Given the description of an element on the screen output the (x, y) to click on. 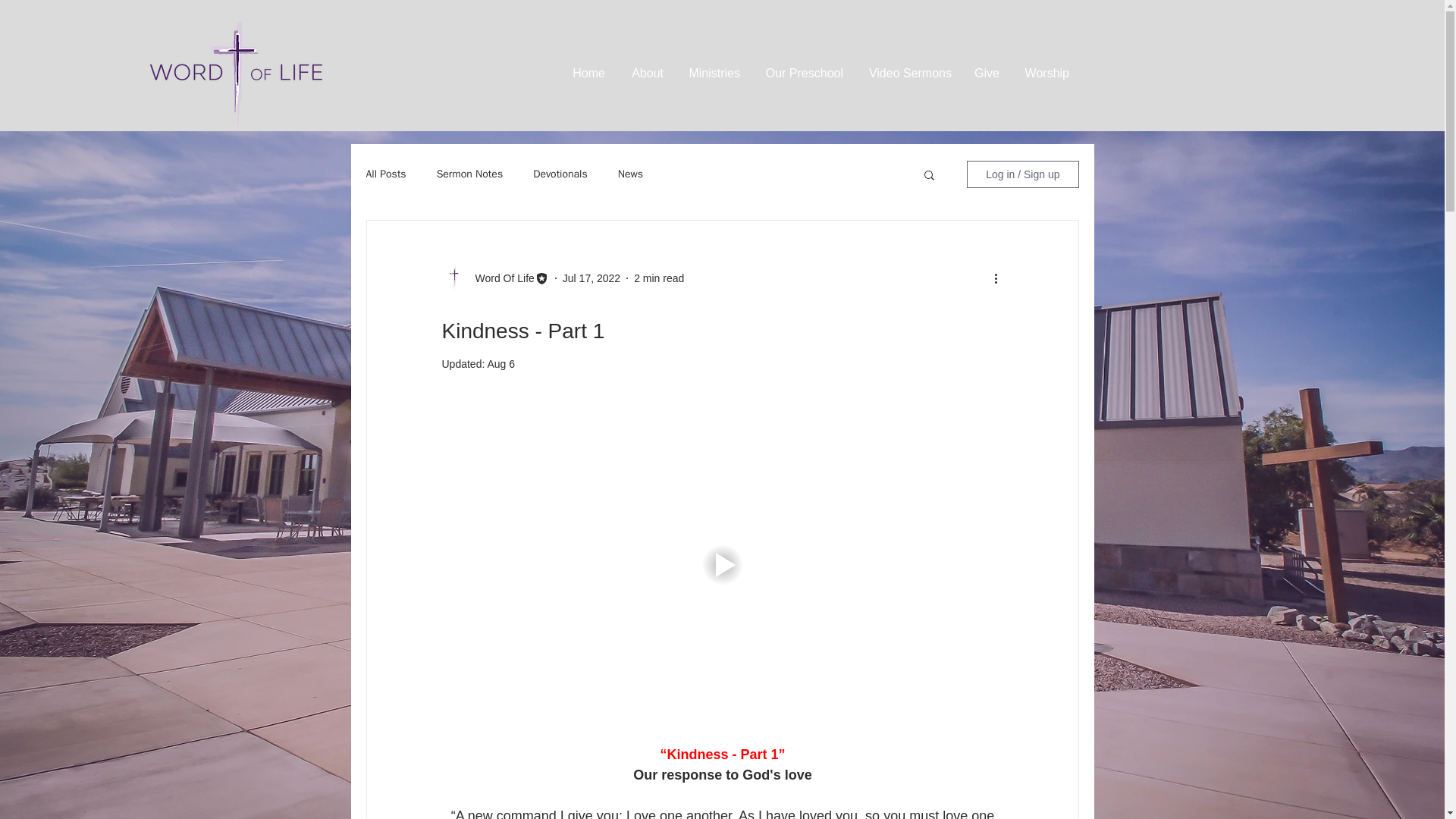
Jul 17, 2022 (591, 277)
Sermon Notes (469, 173)
Video Sermons (908, 73)
Devotionals (560, 173)
Aug 6 (500, 363)
Word Of Life (499, 277)
2 min read (658, 277)
News (630, 173)
All Posts (385, 173)
